Given the description of an element on the screen output the (x, y) to click on. 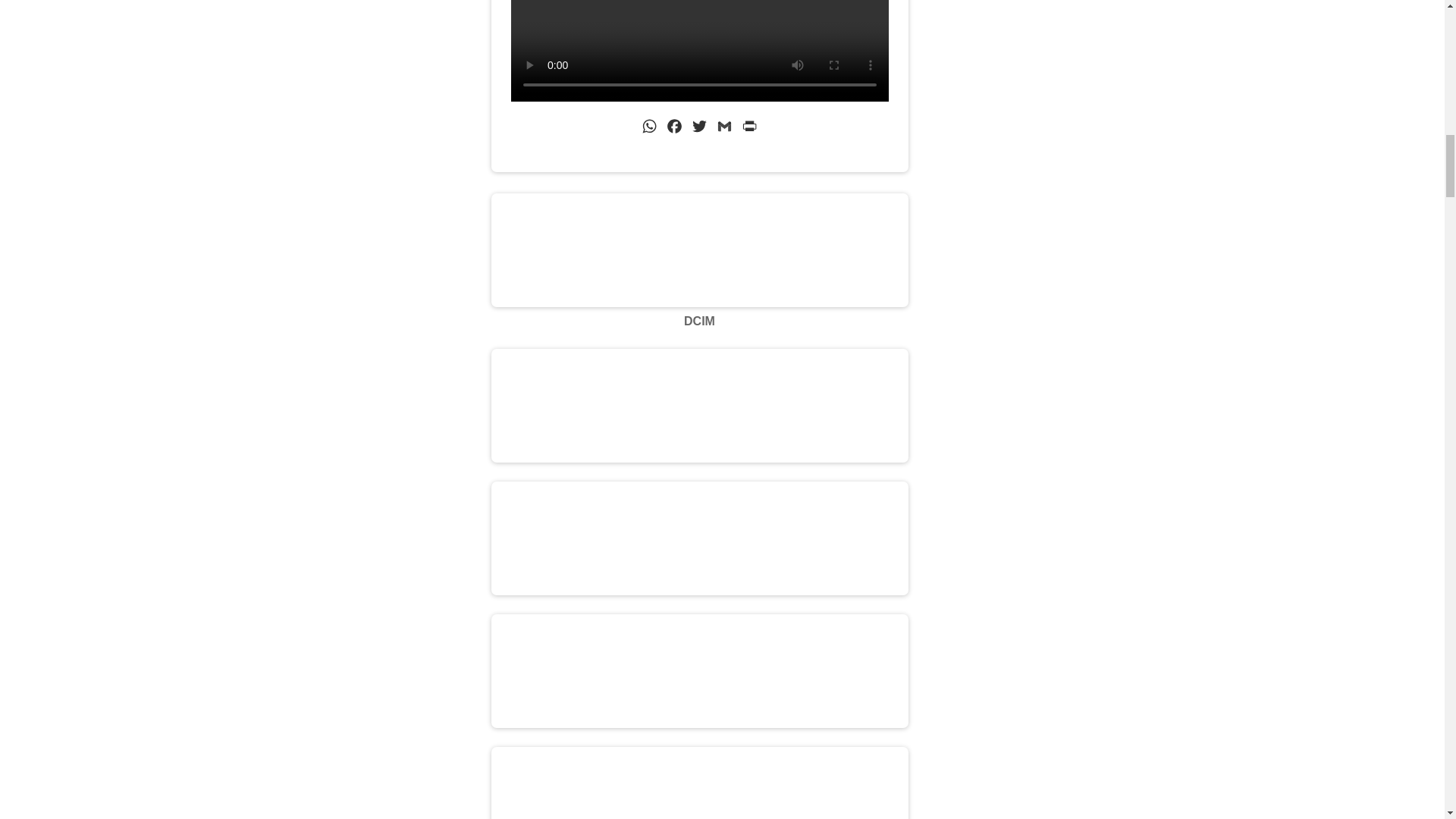
Print (748, 128)
Facebook (674, 128)
Twitter (699, 128)
Gmail (723, 128)
WhatsApp (649, 128)
